Given the description of an element on the screen output the (x, y) to click on. 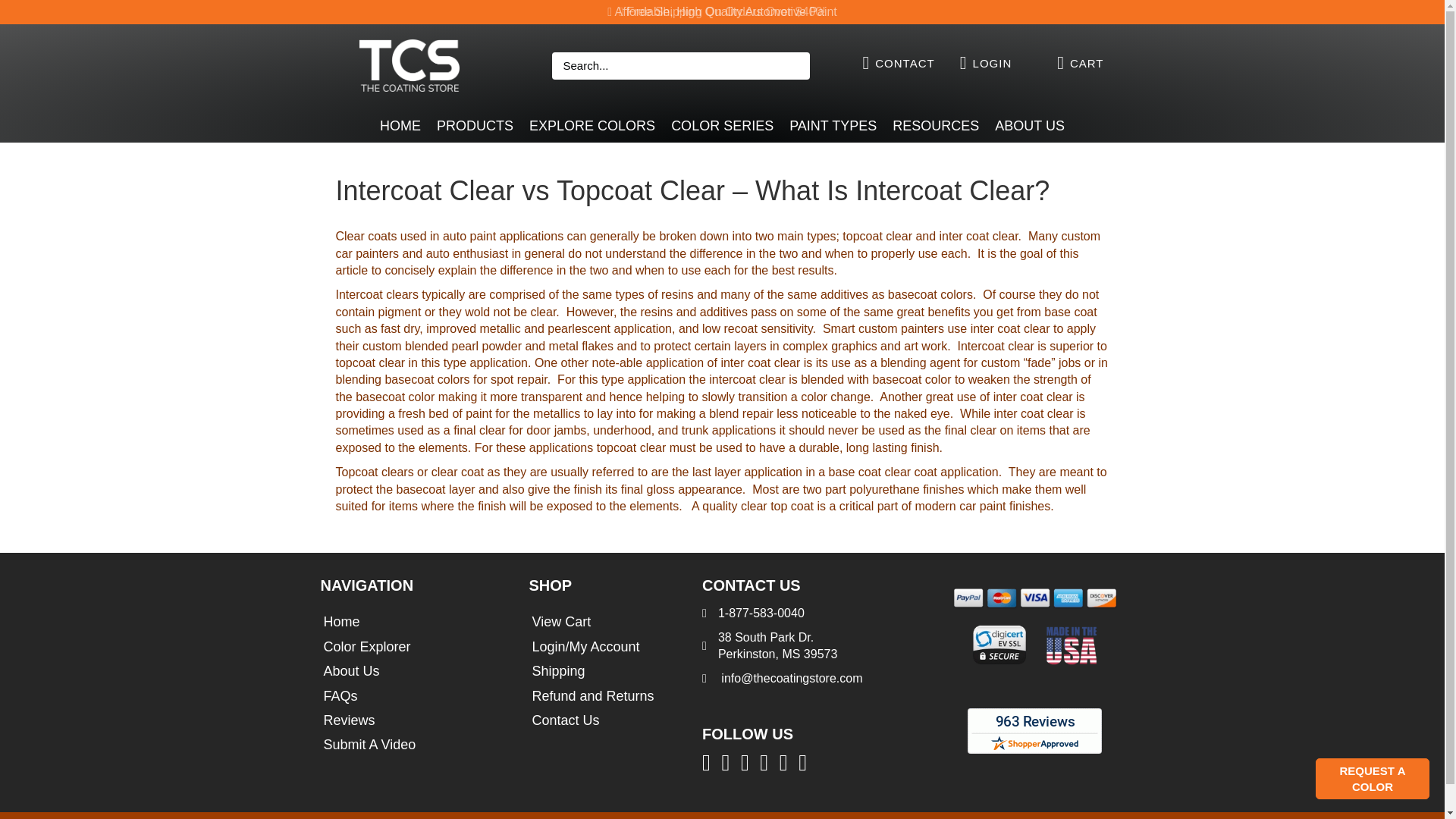
EXPLORE COLORS (591, 126)
CART (1086, 63)
CONTACT (904, 63)
LOGIN (991, 63)
TCS-Logo-New (409, 64)
PRODUCTS (475, 126)
HOME (400, 126)
